Given the description of an element on the screen output the (x, y) to click on. 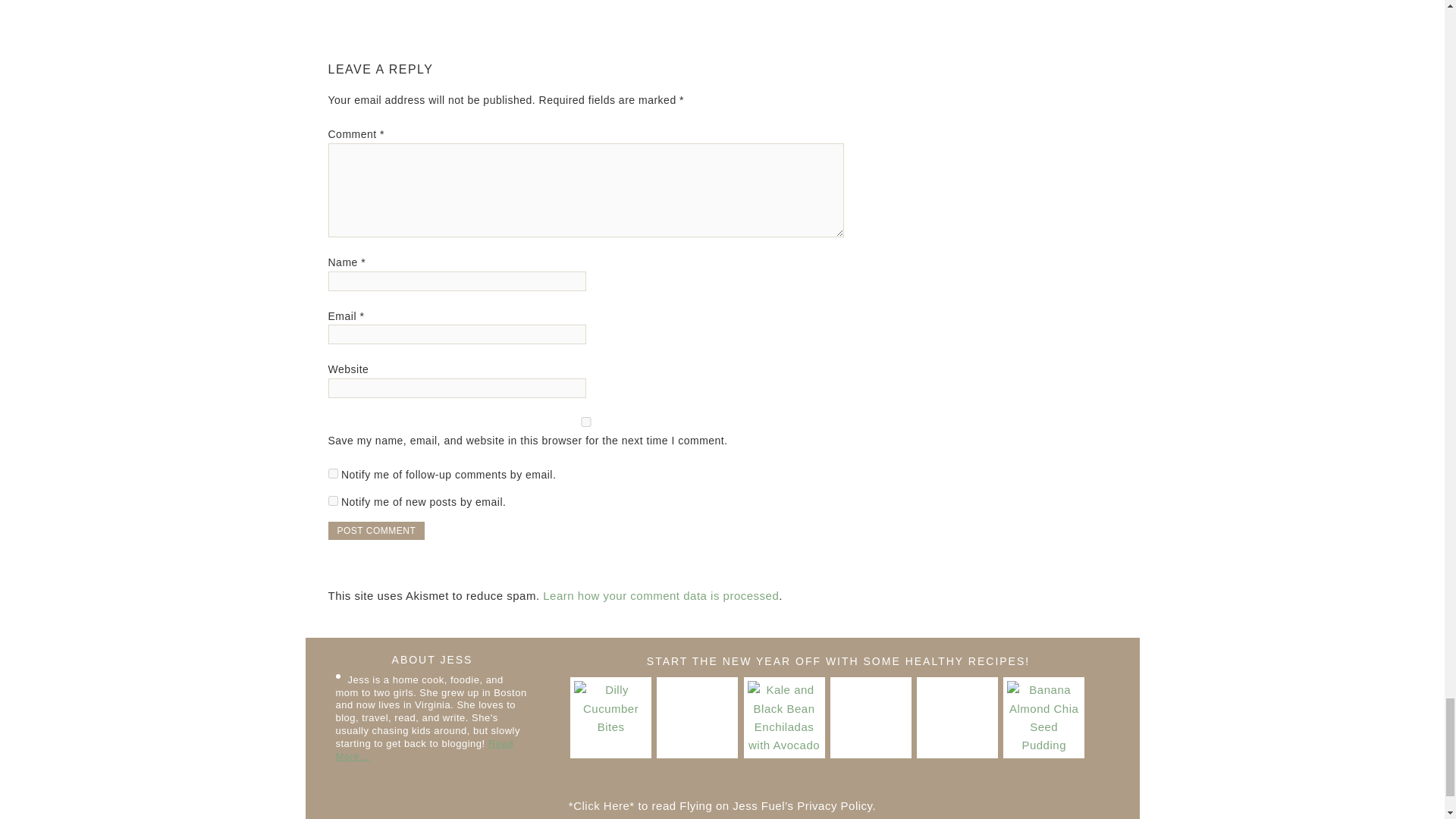
Post Comment (376, 530)
Roasted Tomatillo Salsa Verde (870, 717)
Sausage, Kale and Squash Soup (957, 717)
Cashew Chicken Lettuce Wraps (697, 717)
subscribe (332, 501)
Dilly Cucumber Bites (610, 717)
subscribe (332, 473)
yes (585, 421)
